Given the description of an element on the screen output the (x, y) to click on. 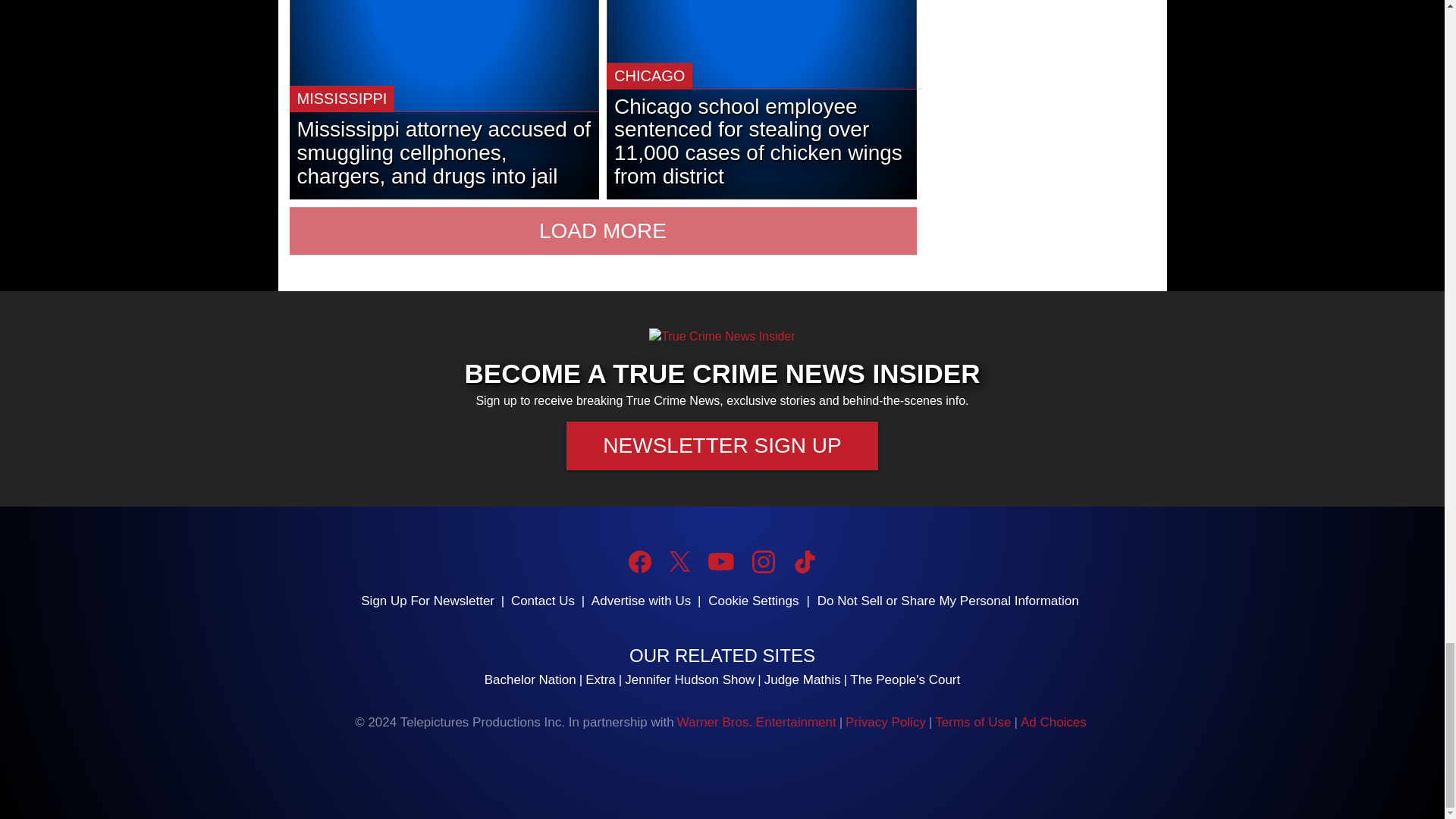
TikTok (804, 561)
Instagram (763, 561)
YouTube (720, 561)
Facebook (639, 561)
Twitter (679, 561)
